Given the description of an element on the screen output the (x, y) to click on. 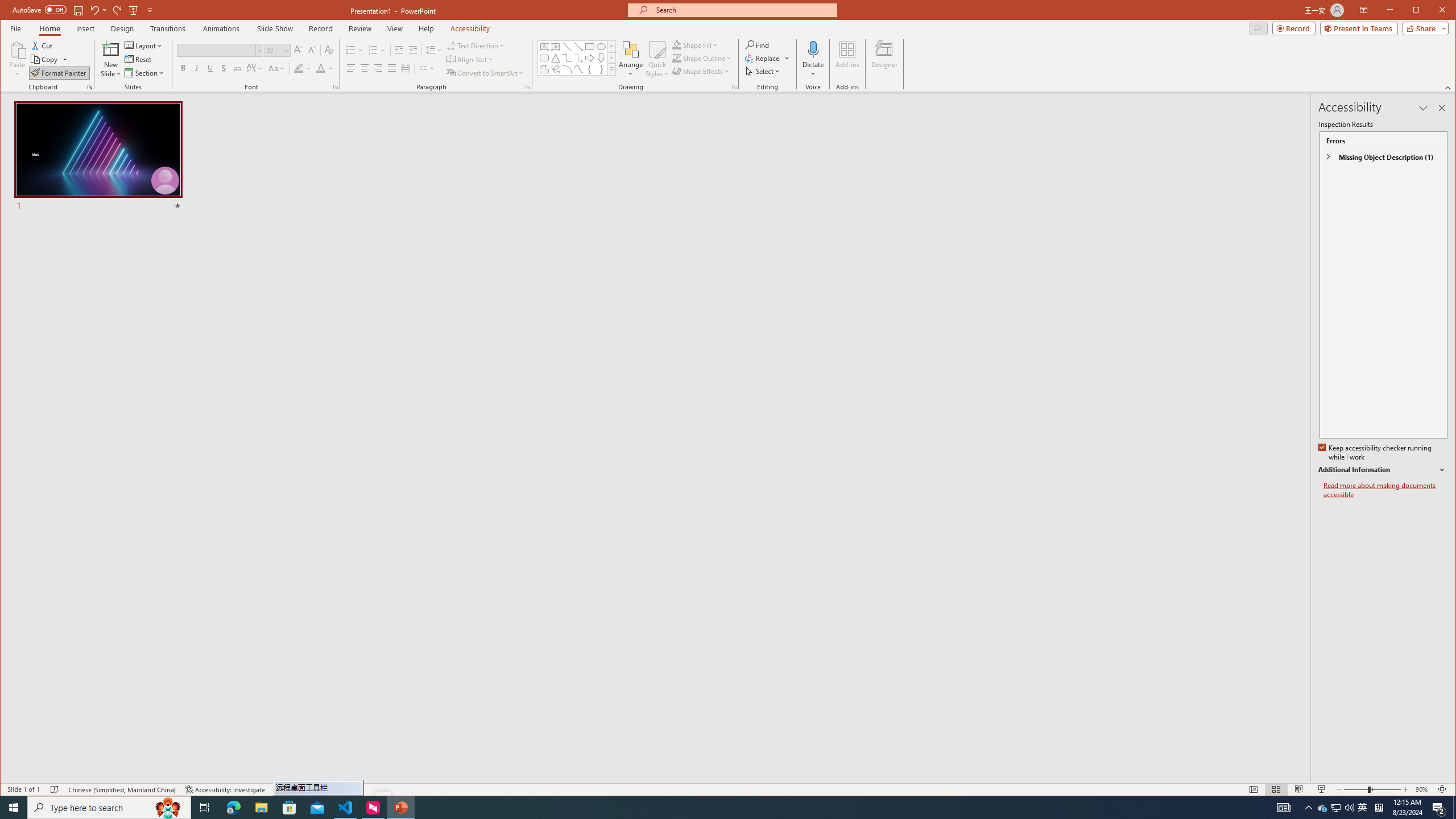
Shape Fill Orange, Accent 2 (676, 44)
